Given the description of an element on the screen output the (x, y) to click on. 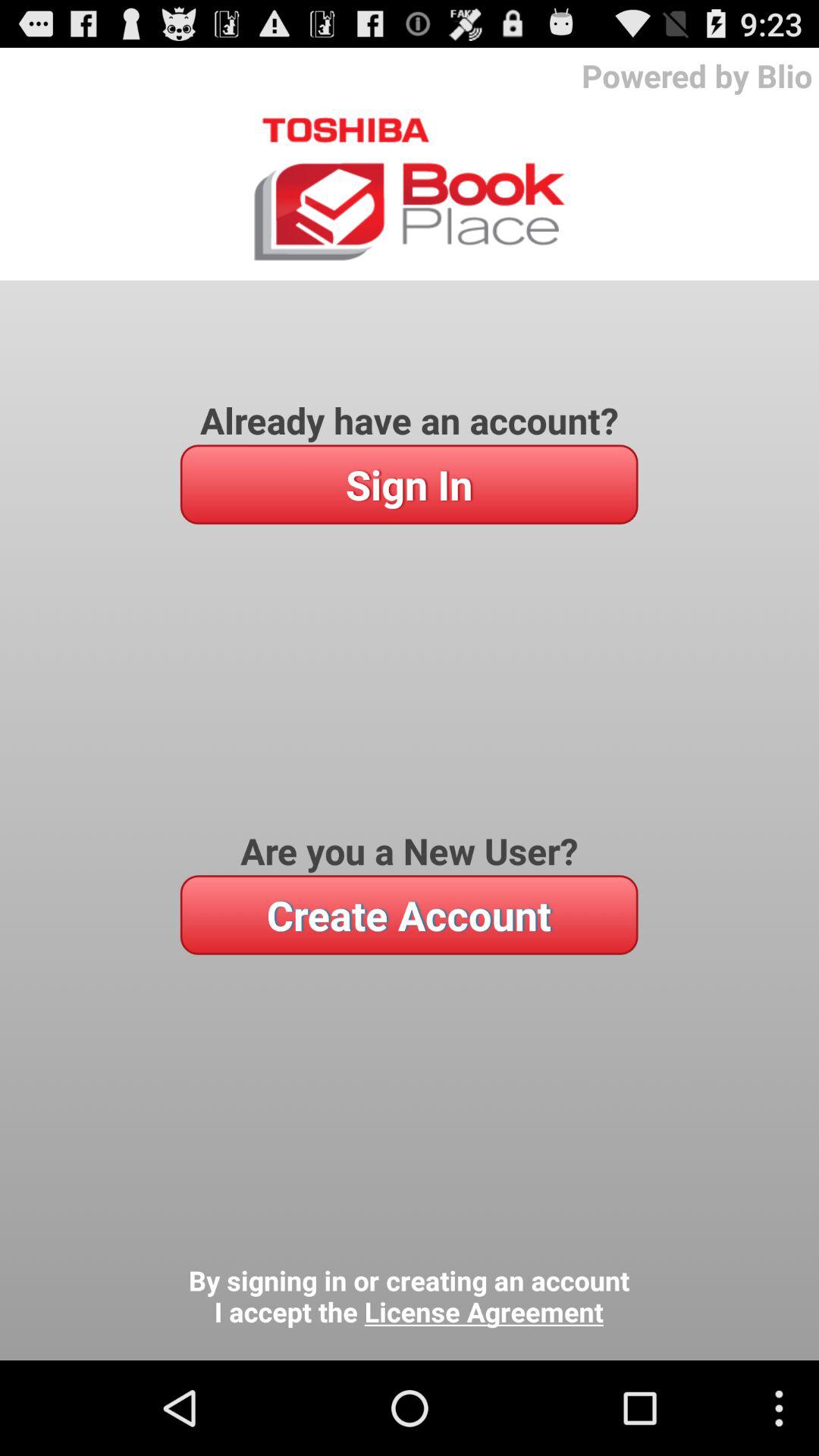
press the item above the are you a (409, 484)
